Given the description of an element on the screen output the (x, y) to click on. 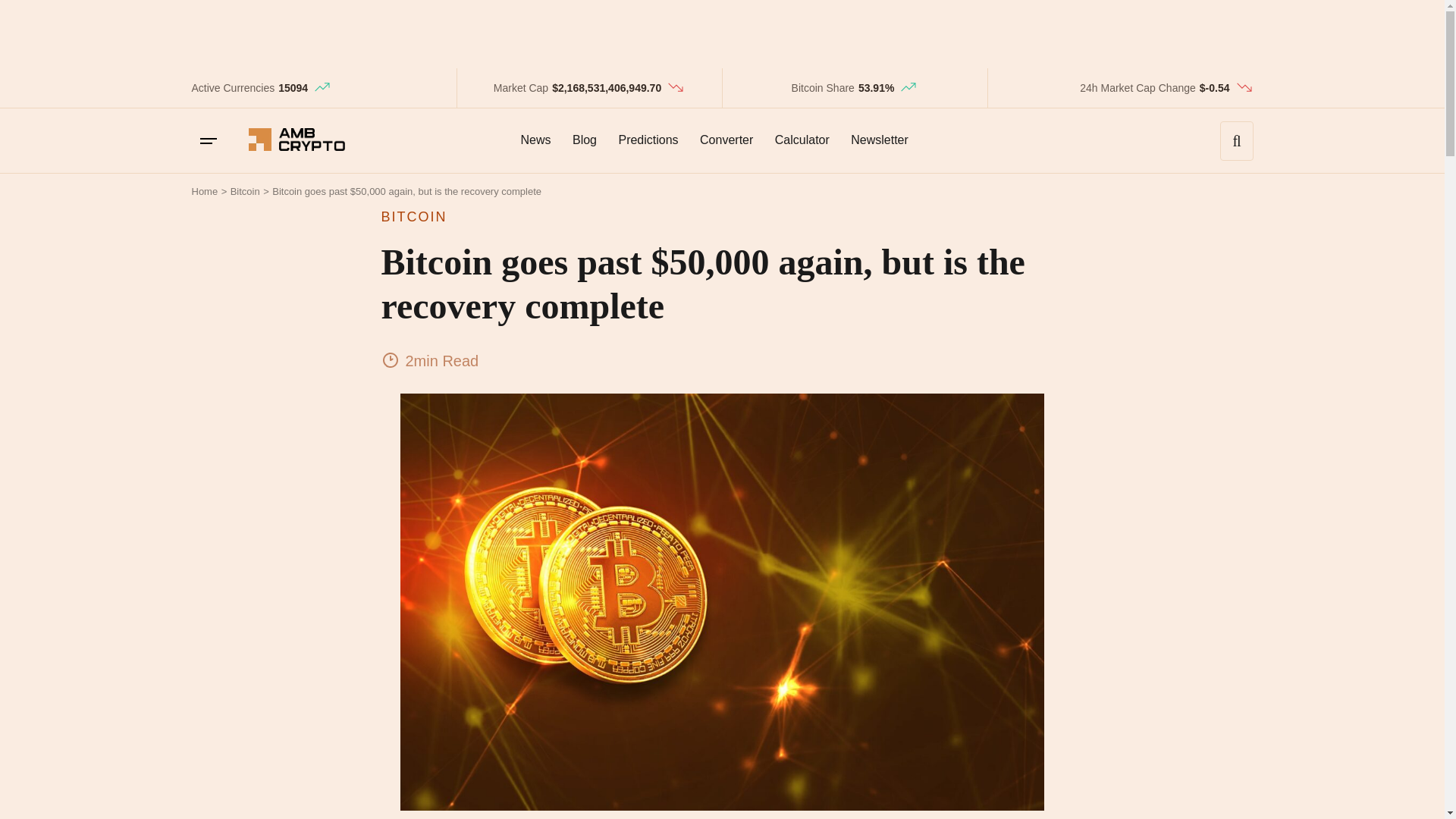
Calculator (801, 139)
Converter (725, 139)
Bitcoin (245, 191)
Predictions (647, 139)
Blog (584, 139)
BITCOIN (721, 216)
Home (203, 191)
News (535, 139)
Home (203, 191)
Newsletter (879, 139)
